Given the description of an element on the screen output the (x, y) to click on. 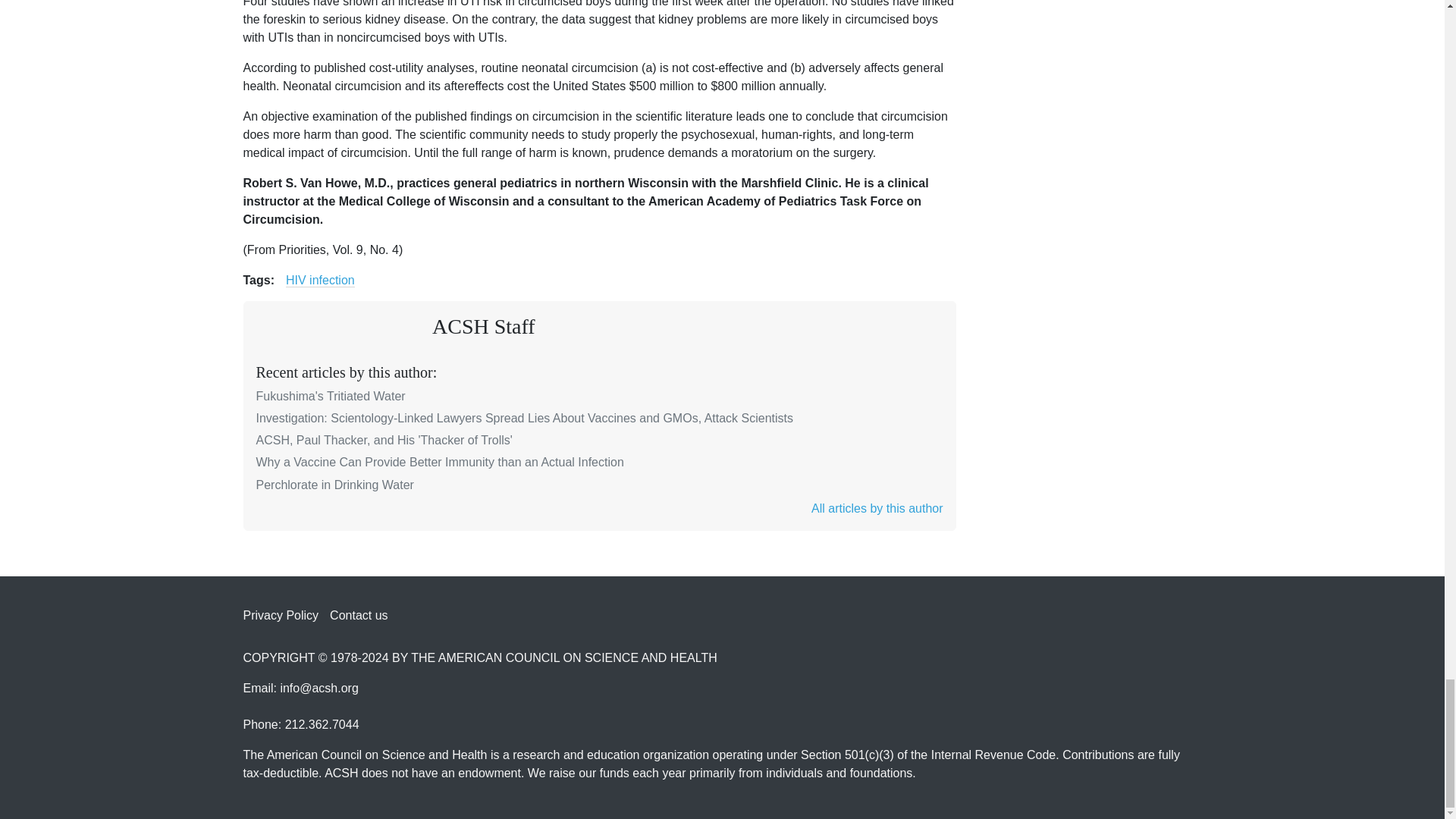
Perchlorate in Drinking Water (334, 484)
Fukushima's Tritiated Water (331, 395)
ACSH Staff (483, 326)
ACSH, Paul Thacker, and His 'Thacker of Trolls' (384, 440)
HIV infection (320, 280)
